Given the description of an element on the screen output the (x, y) to click on. 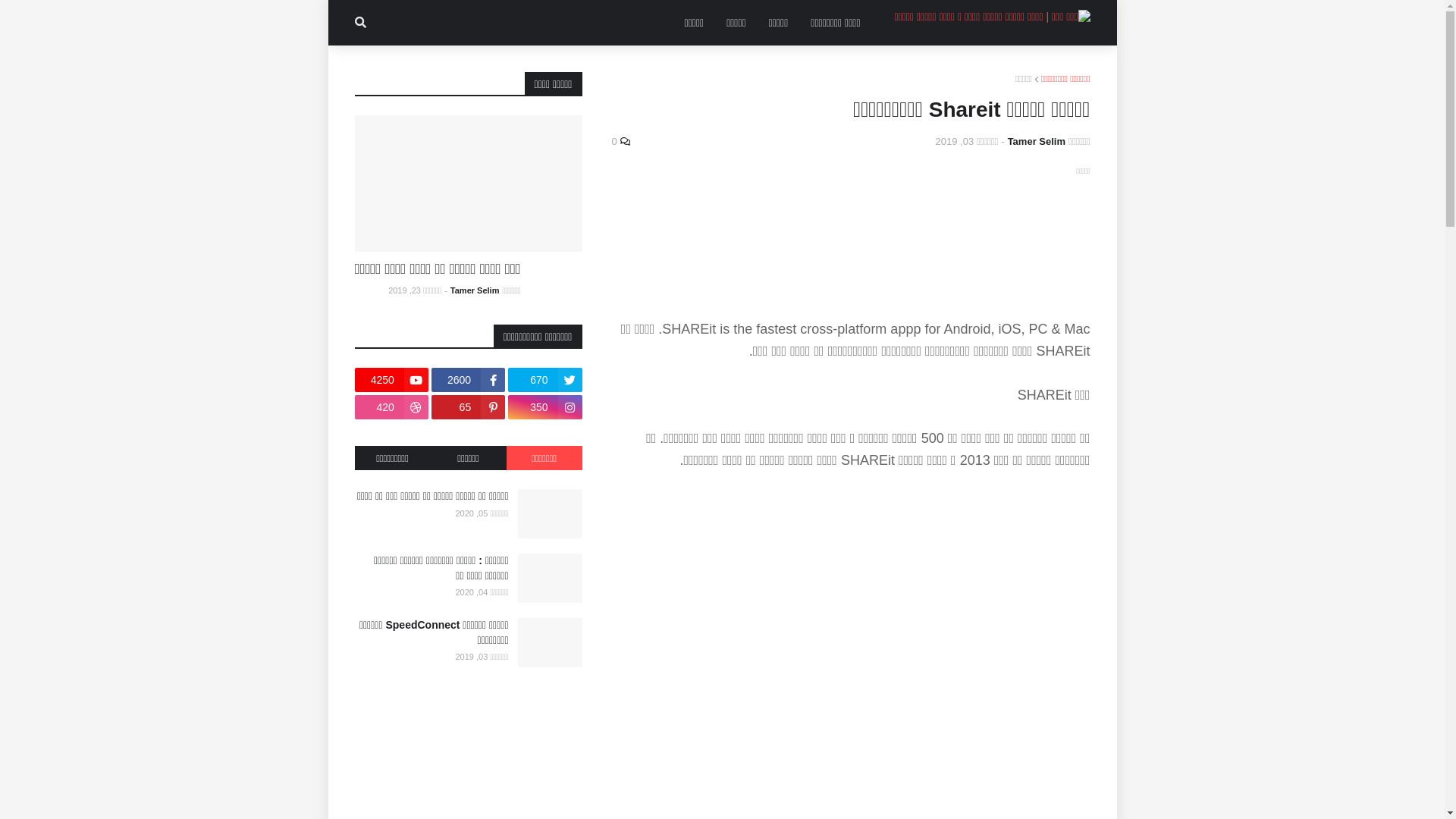
Advertisement Element type: hover (848, 238)
4250 Element type: text (391, 379)
670 Element type: text (544, 379)
65 Element type: text (468, 407)
420 Element type: text (391, 407)
2600 Element type: text (468, 379)
350 Element type: text (544, 407)
